Given the description of an element on the screen output the (x, y) to click on. 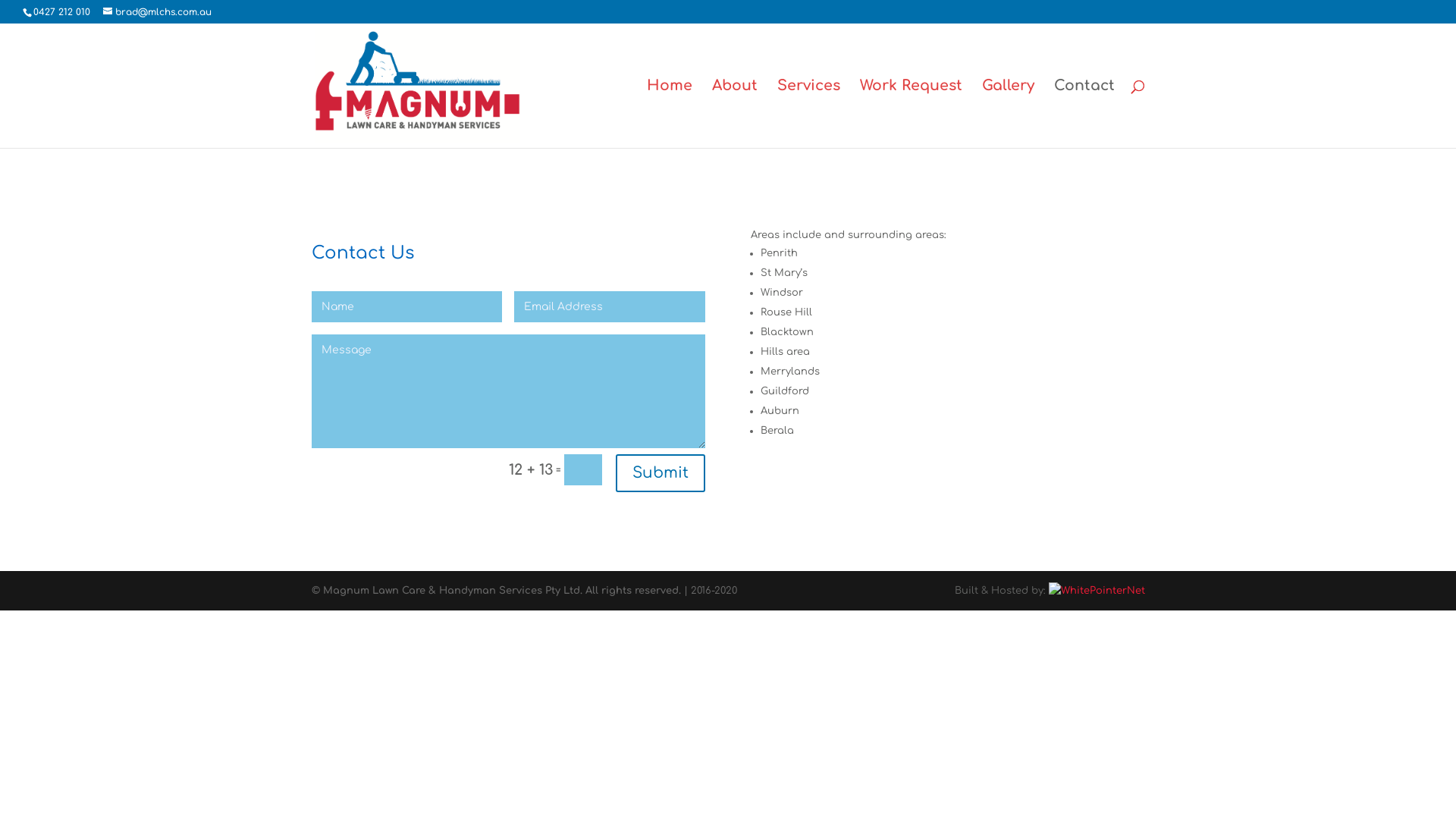
Work Request Element type: text (910, 113)
Gallery Element type: text (1007, 113)
Home Element type: text (668, 113)
Submit Element type: text (660, 473)
Contact Element type: text (1084, 113)
About Element type: text (733, 113)
brad@mlchs.com.au Element type: text (157, 11)
Services Element type: text (807, 113)
